Given the description of an element on the screen output the (x, y) to click on. 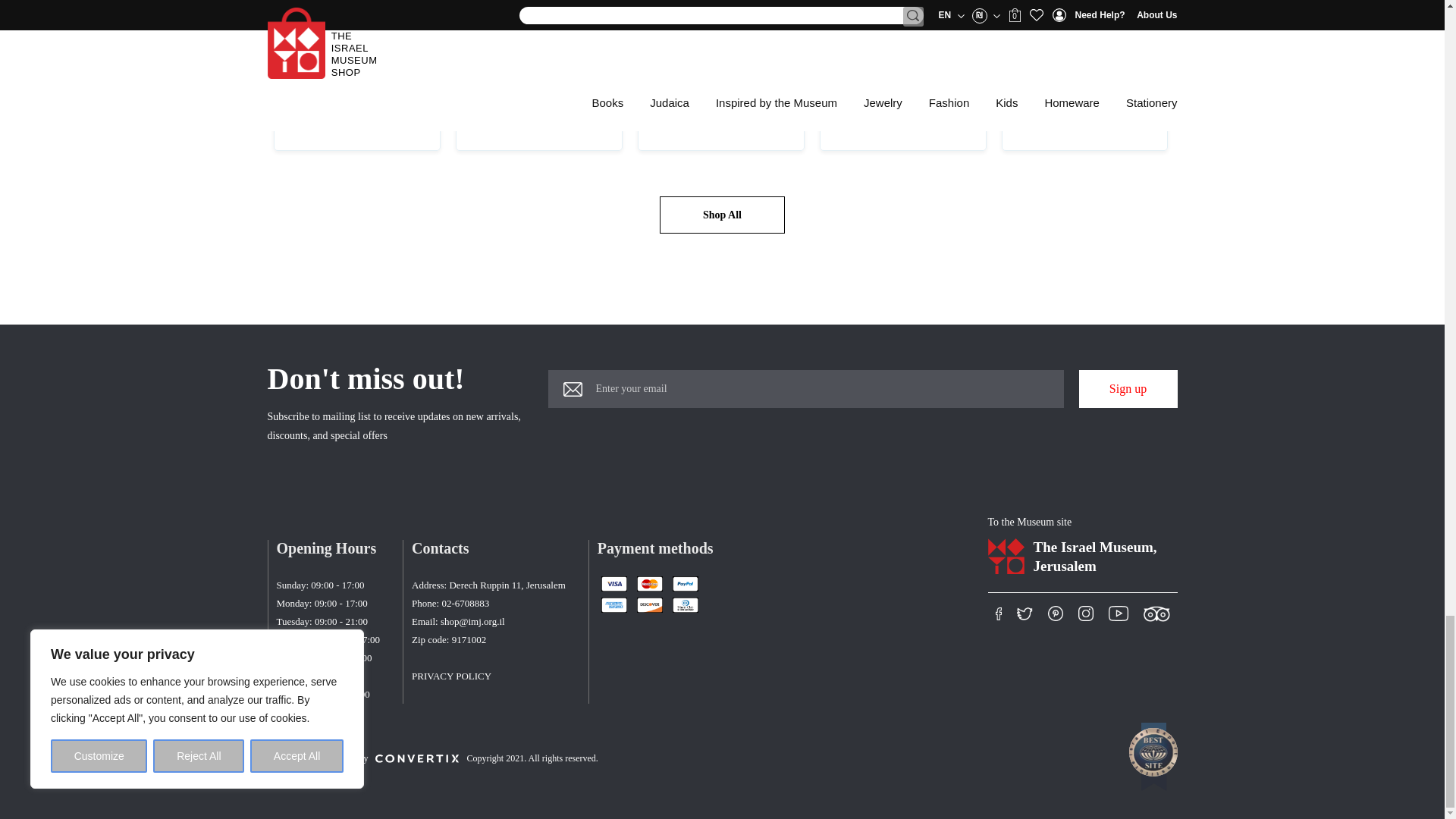
Sign up (1127, 388)
